Given the description of an element on the screen output the (x, y) to click on. 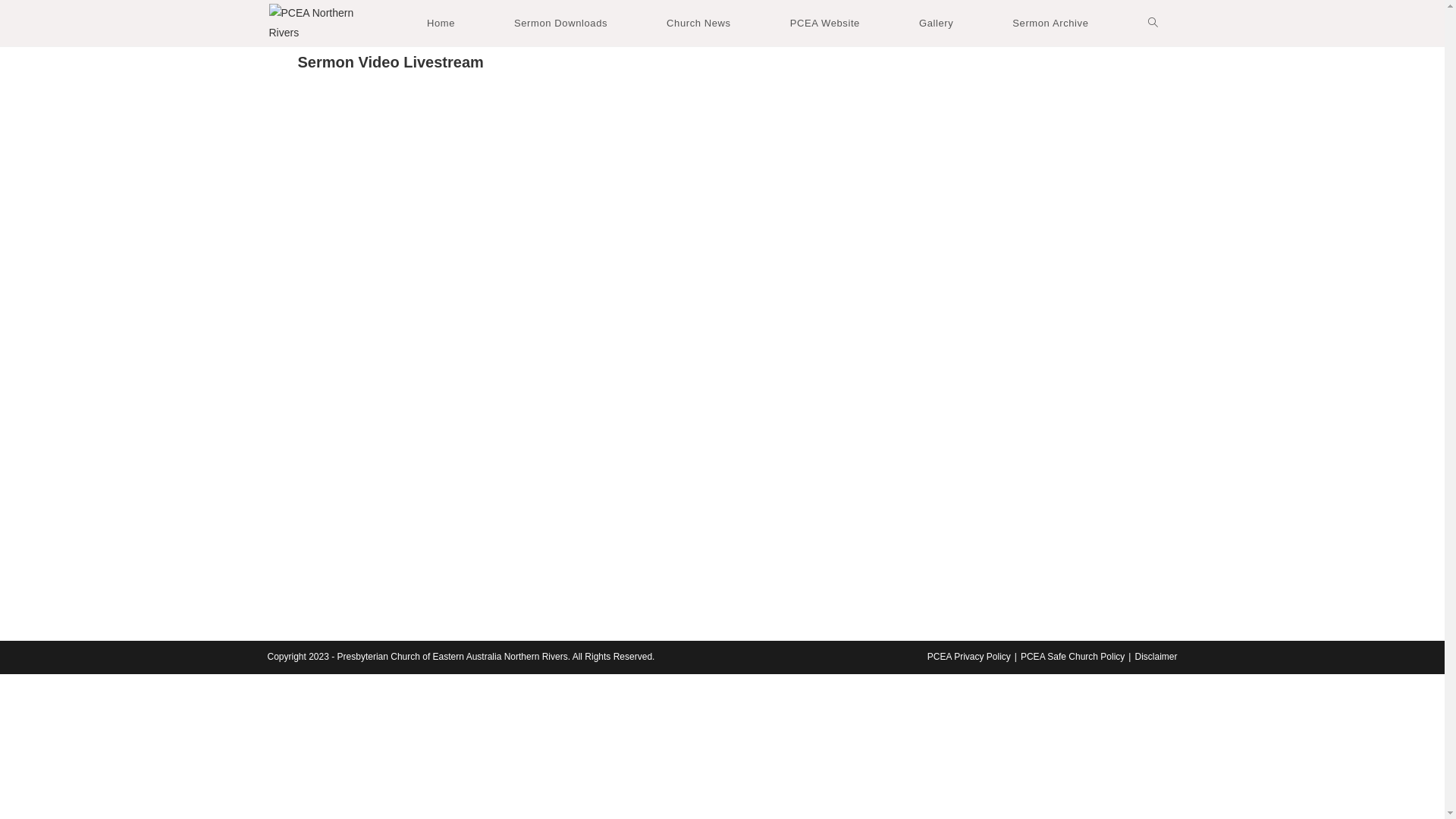
PCEA Safe Church Policy Element type: text (1072, 656)
Sermon Archive Element type: text (1049, 22)
Disclaimer Element type: text (1155, 656)
YouTube player Element type: hover (721, 355)
Home Element type: text (440, 22)
Sermon Downloads Element type: text (560, 22)
PCEA Privacy Policy Element type: text (968, 656)
Church News Element type: text (698, 22)
PCEA Website Element type: text (824, 22)
Gallery Element type: text (935, 22)
